Given the description of an element on the screen output the (x, y) to click on. 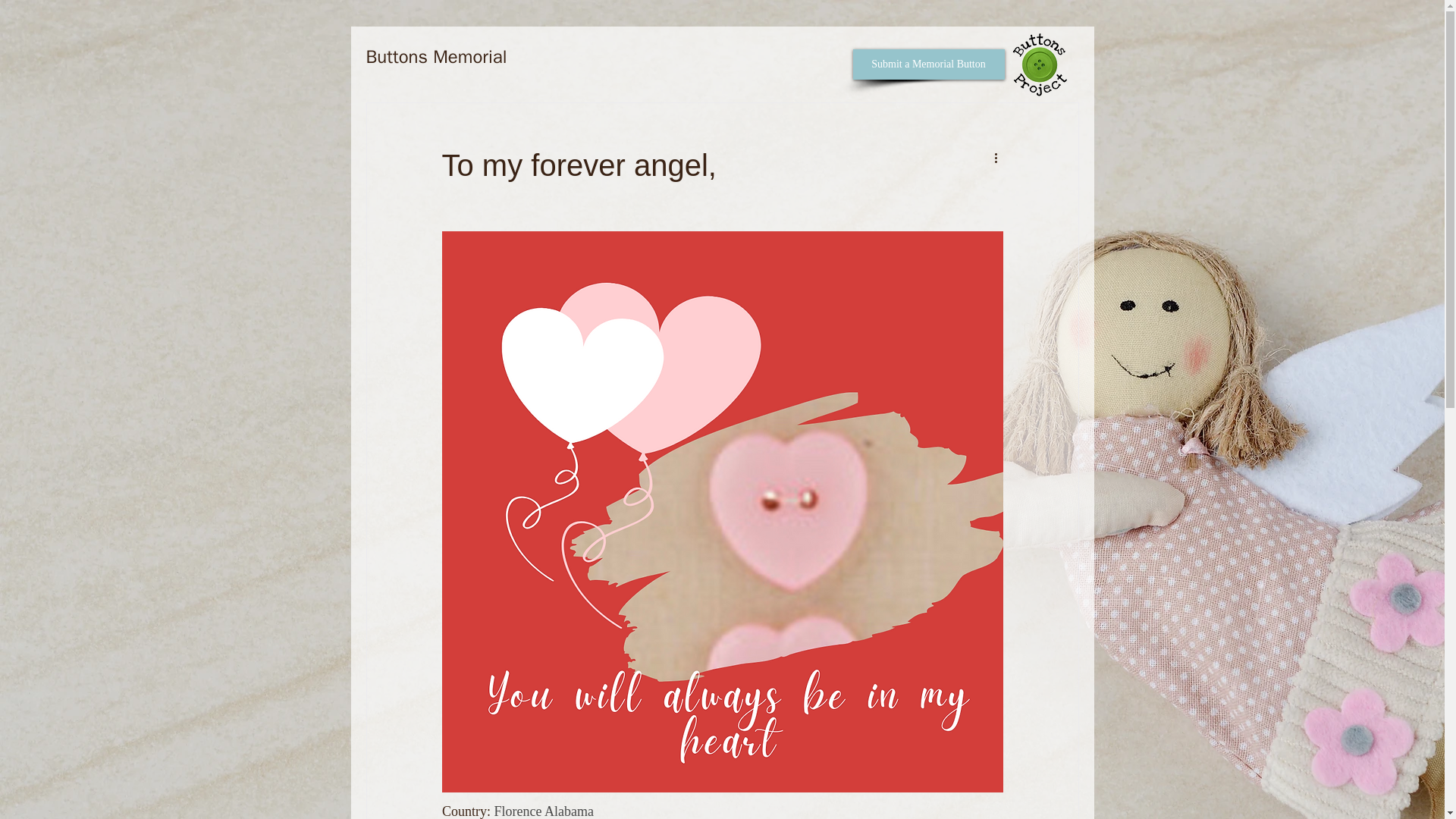
Buttons Memorial (435, 56)
Submit a Memorial Button (927, 64)
